Given the description of an element on the screen output the (x, y) to click on. 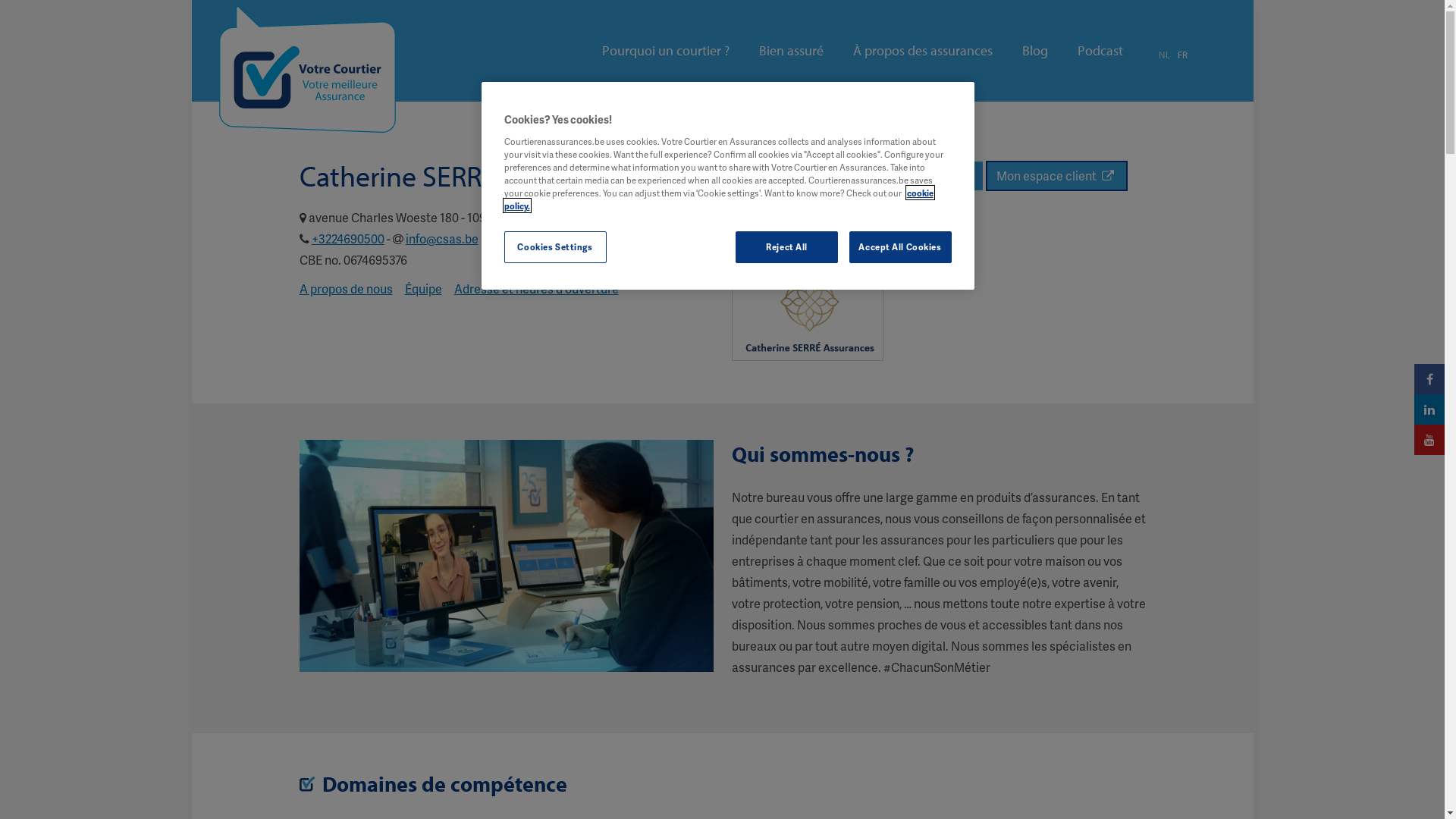
info@csas.be Element type: text (440, 238)
cookie policy. Element type: text (717, 198)
Blog Element type: text (1034, 50)
+3224690500 Element type: text (346, 238)
FR Element type: text (1181, 54)
NL Element type: text (1164, 54)
Mon espace client Element type: text (1056, 175)
Documents Element type: text (939, 175)
Cookies Settings Element type: text (554, 247)
Pourquoi un courtier ? Element type: text (665, 50)
Podcast Element type: text (1099, 50)
Reject All Element type: text (786, 247)
Accept All Cookies Element type: text (900, 247)
Adresse et heures d'ouverture Element type: text (535, 288)
Contact Element type: text (863, 175)
A propos de nous Element type: text (345, 288)
